Given the description of an element on the screen output the (x, y) to click on. 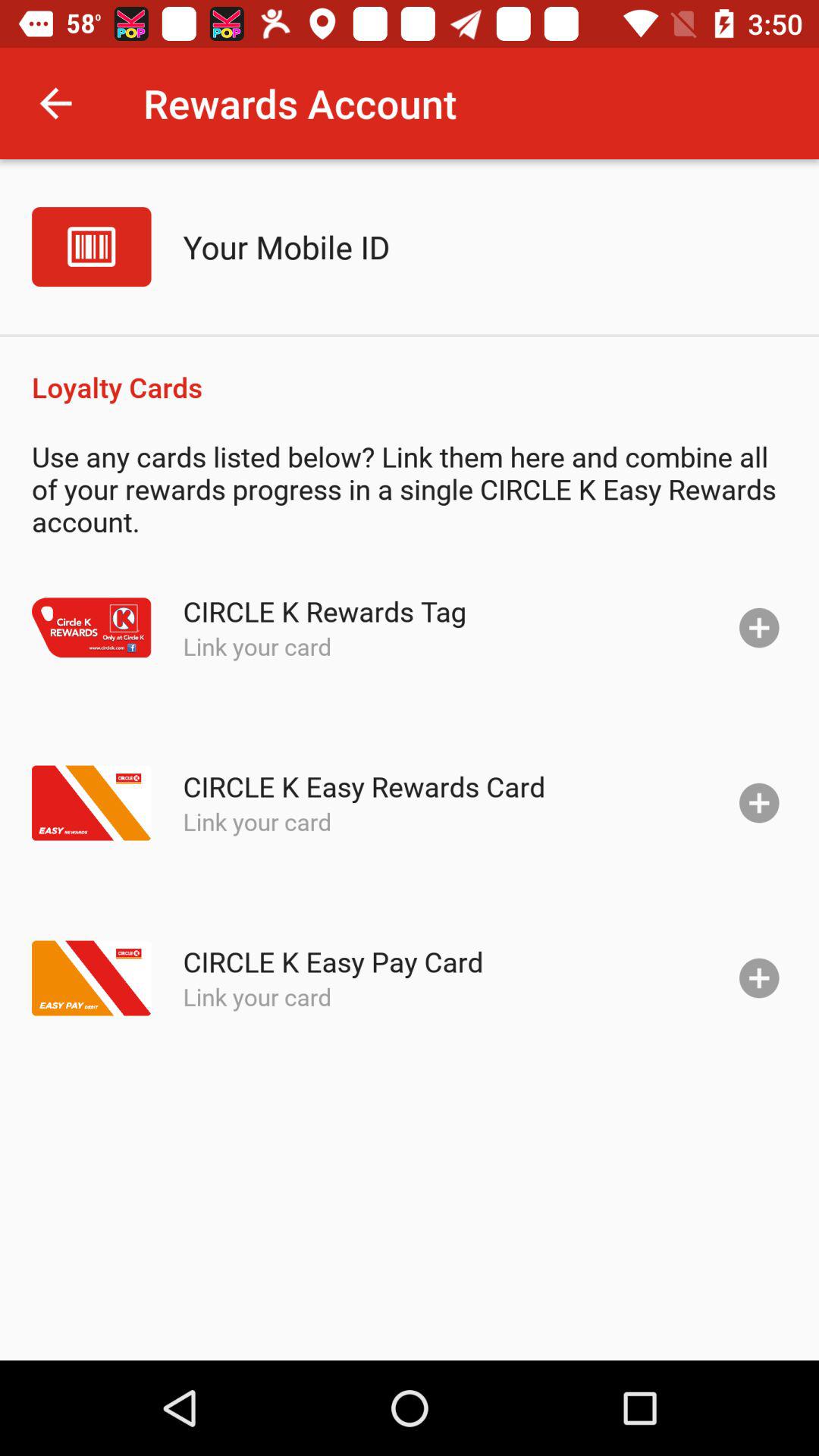
open the item to the left of the rewards account item (55, 103)
